Given the description of an element on the screen output the (x, y) to click on. 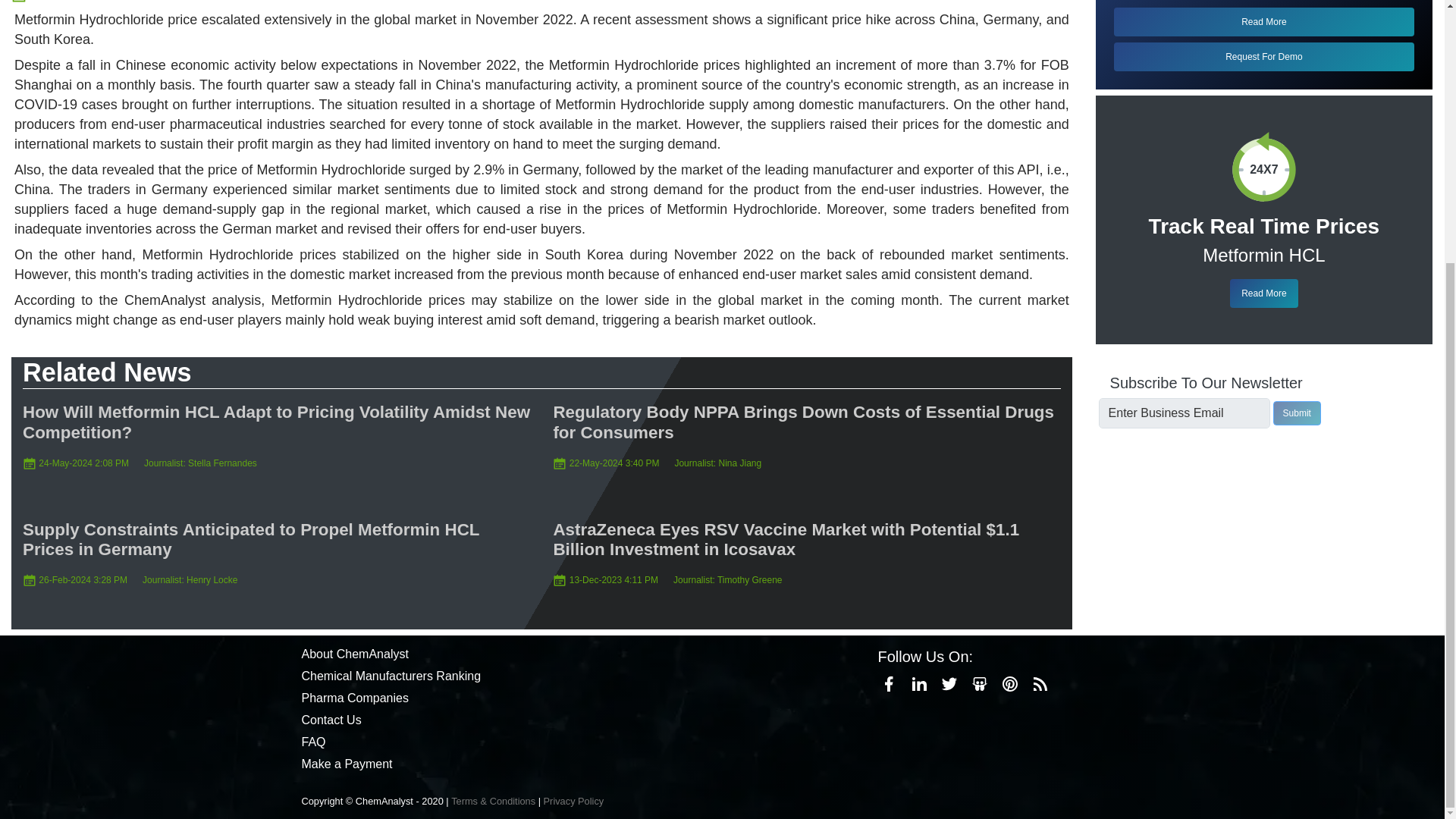
Submit (1296, 413)
